Given the description of an element on the screen output the (x, y) to click on. 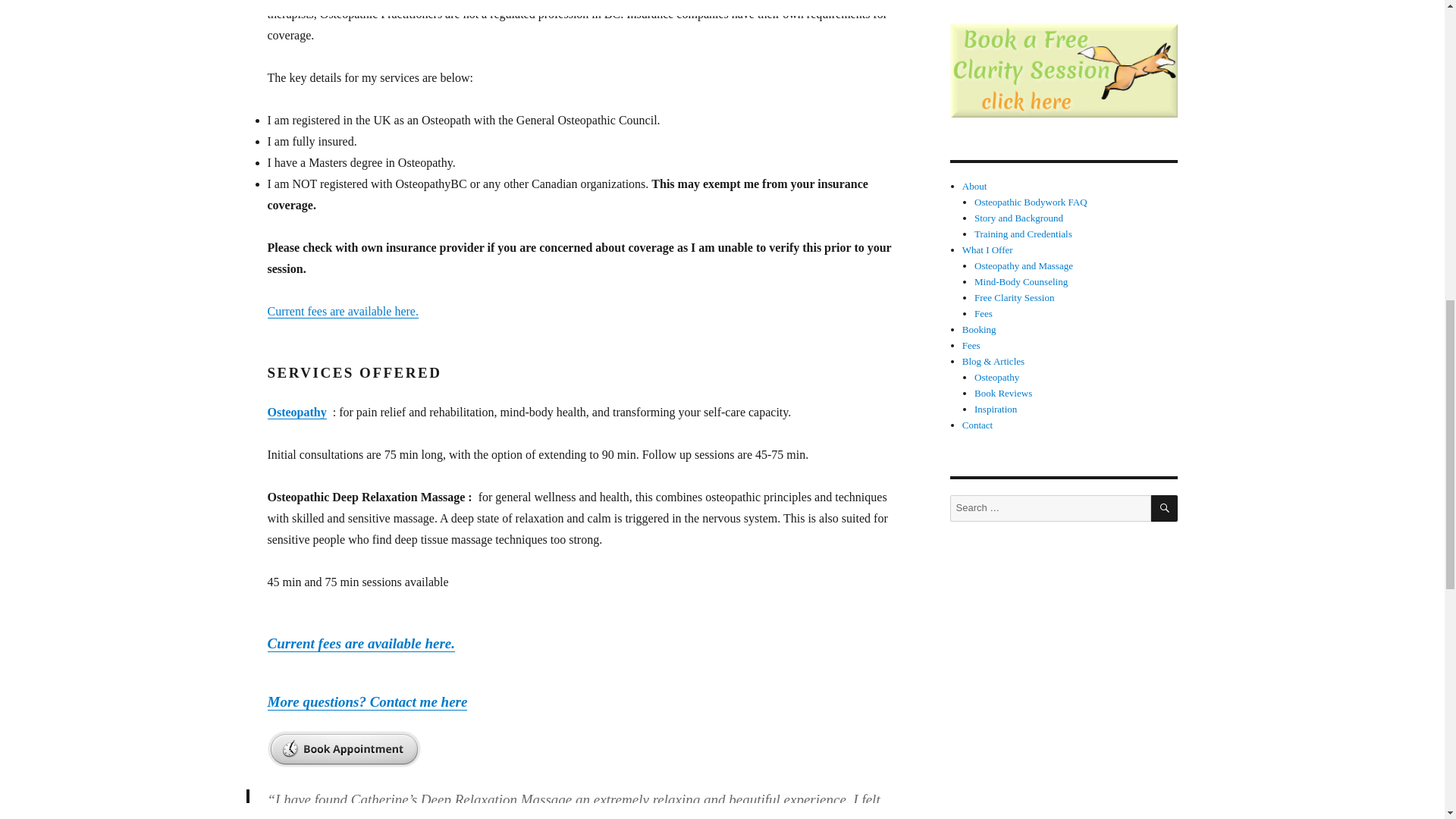
Osteopathic Bodywork FAQ (1030, 202)
Training and Credentials (1022, 233)
What I Offer (987, 249)
More questions? Contact me here (366, 701)
Current fees are available here. (341, 310)
Current fees are available here. (360, 643)
Story and Background (1018, 217)
About (974, 185)
Osteopathy (296, 411)
